Given the description of an element on the screen output the (x, y) to click on. 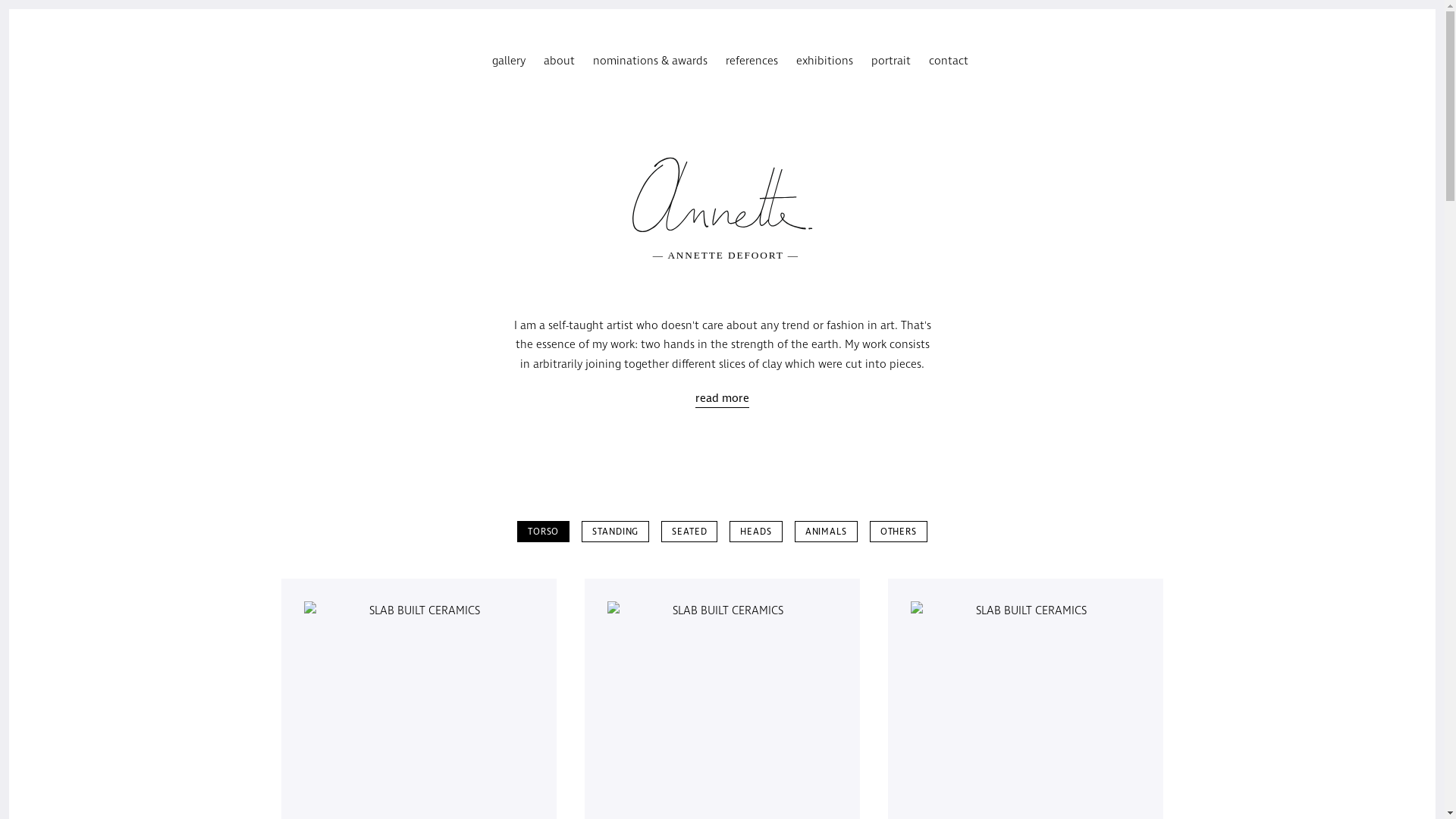
OTHERS Element type: text (898, 530)
STANDING Element type: text (615, 530)
nominations & awards Element type: text (650, 61)
read more Element type: text (722, 398)
portrait Element type: text (890, 61)
references Element type: text (750, 61)
about Element type: text (558, 61)
SEATED Element type: text (689, 530)
HEADS Element type: text (755, 530)
TORSO Element type: text (543, 530)
exhibitions Element type: text (824, 61)
gallery Element type: text (507, 61)
Skip to main content Element type: text (9, 9)
ANIMALS Element type: text (825, 530)
contact Element type: text (947, 61)
